Given the description of an element on the screen output the (x, y) to click on. 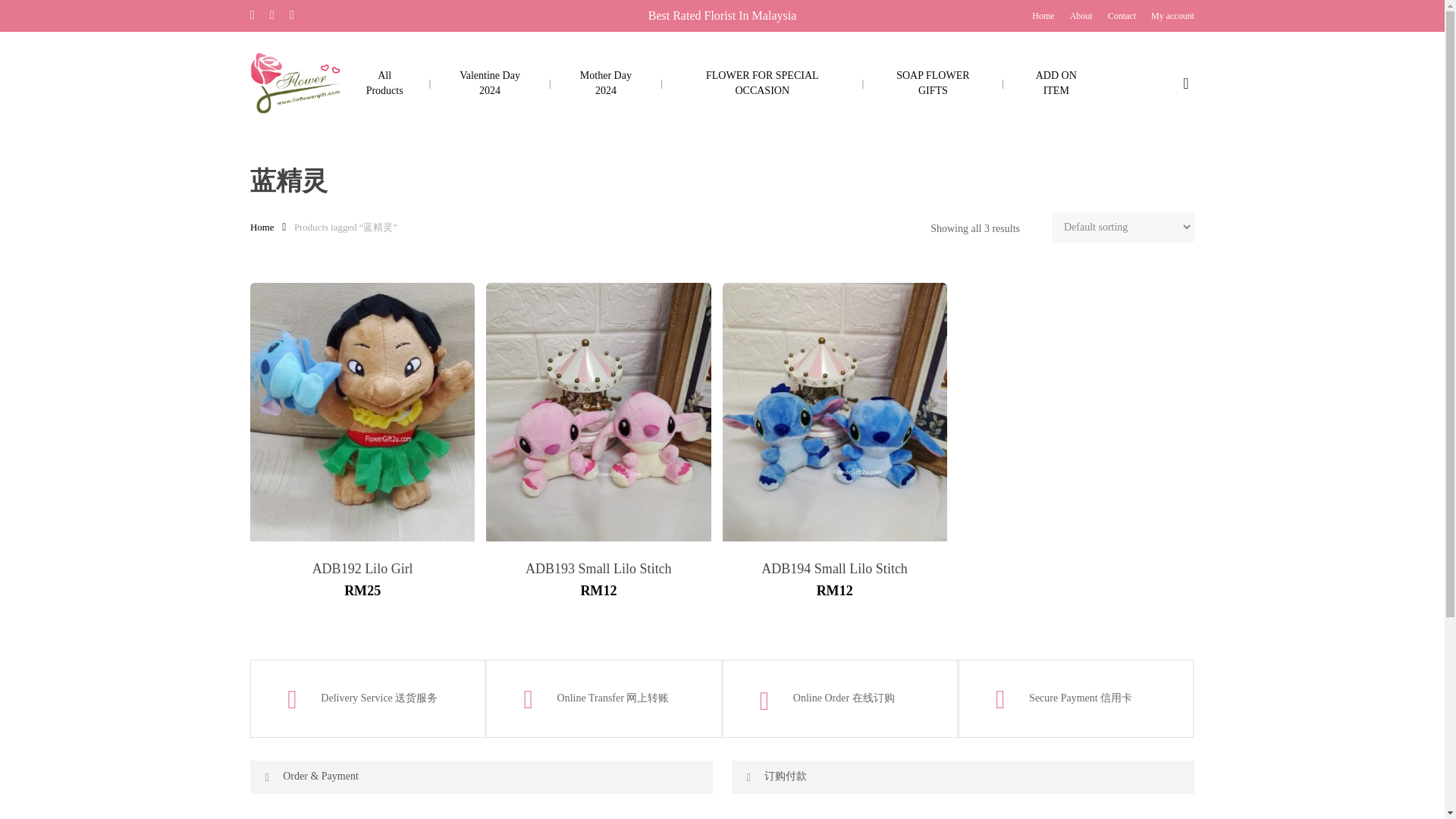
FLOWER FOR SPECIAL OCCASION (762, 82)
ADD ON ITEM (1056, 82)
Home (1043, 15)
About (1081, 15)
SOAP FLOWER GIFTS (932, 82)
My account (1172, 15)
Contact (1121, 15)
Mother Day 2024 (605, 82)
Valentine Day 2024 (489, 82)
All Products (384, 82)
